Given the description of an element on the screen output the (x, y) to click on. 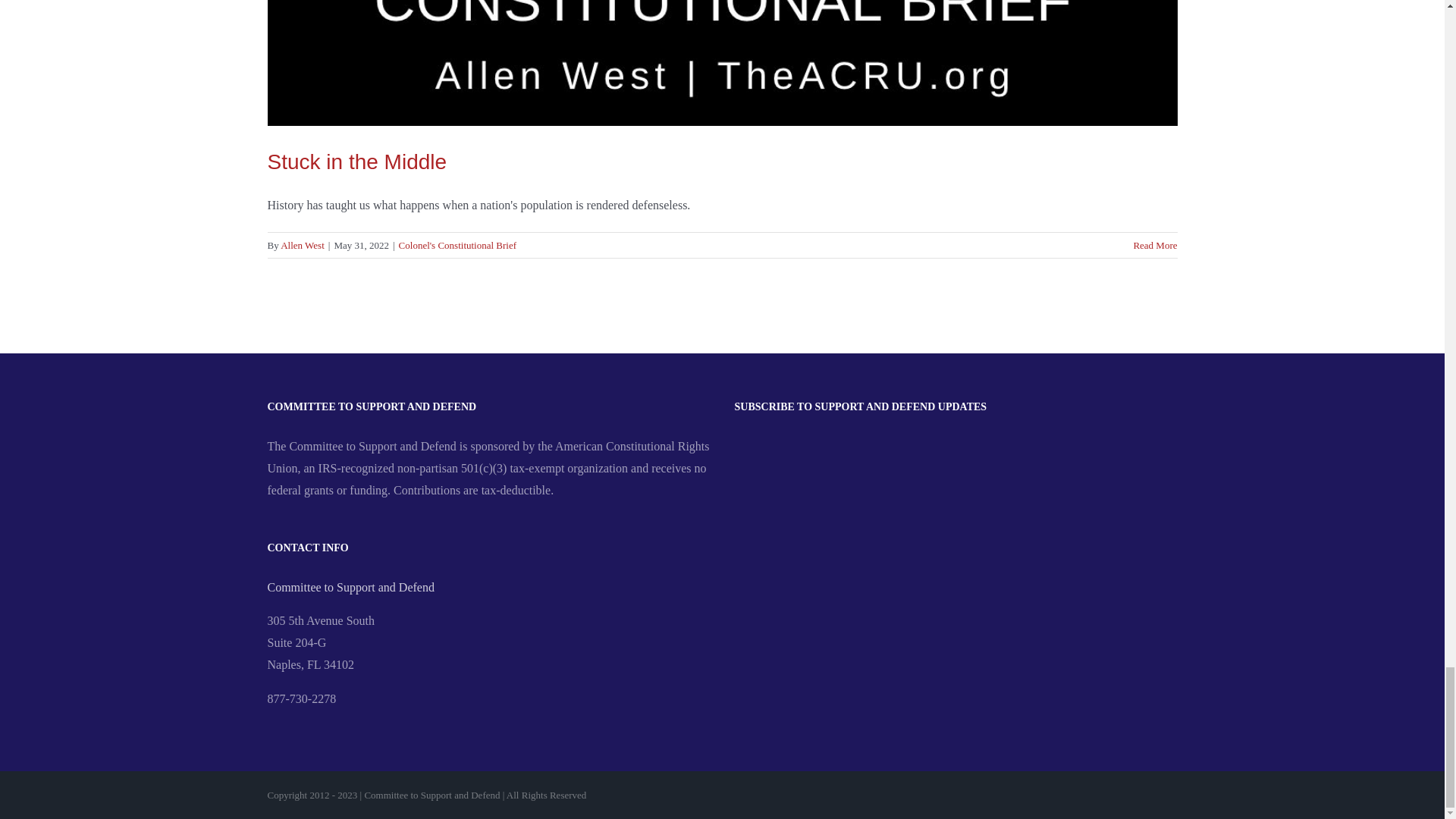
Posts by Allen West (302, 244)
